Given the description of an element on the screen output the (x, y) to click on. 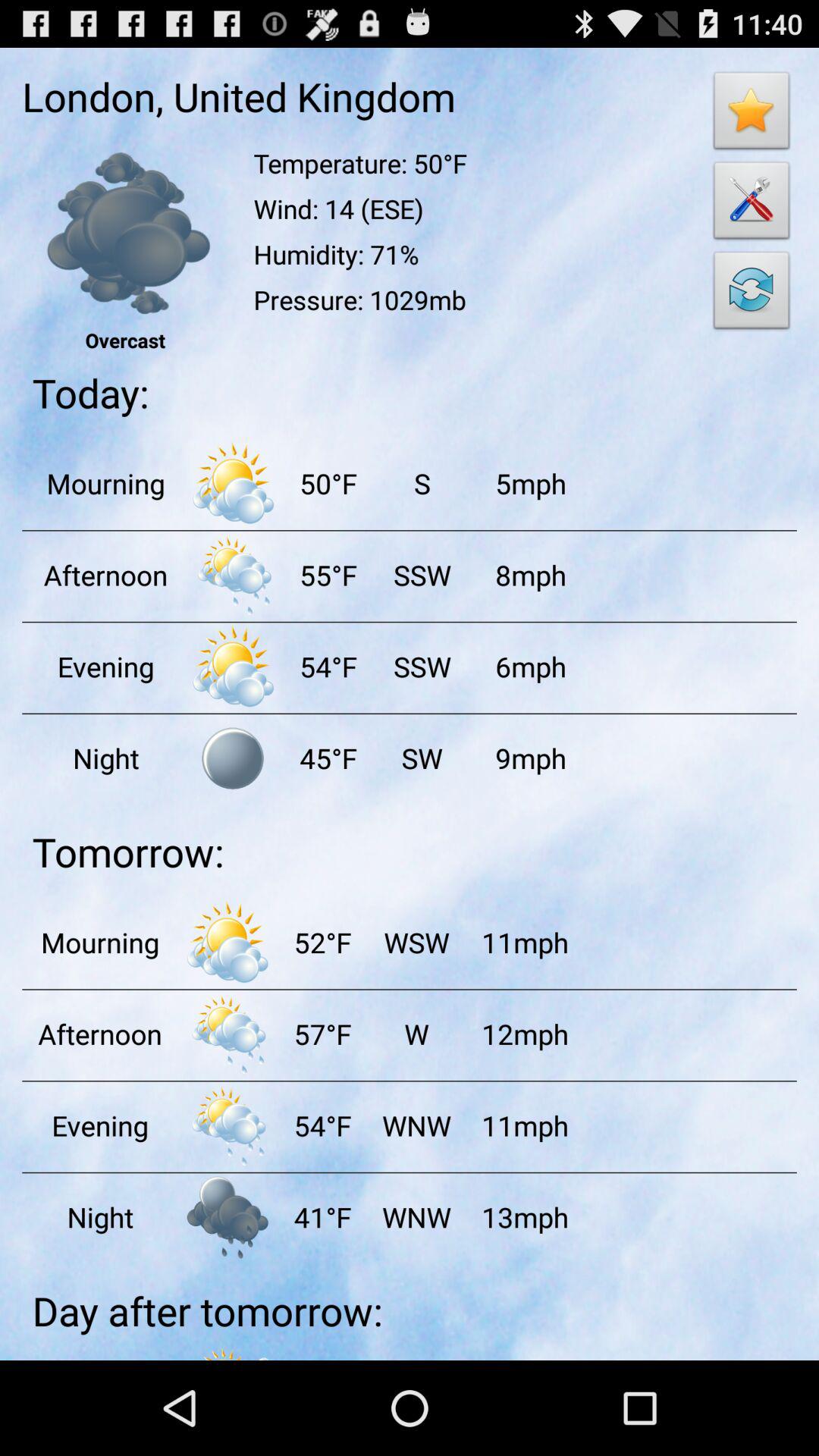
turn on w (416, 1033)
